Given the description of an element on the screen output the (x, y) to click on. 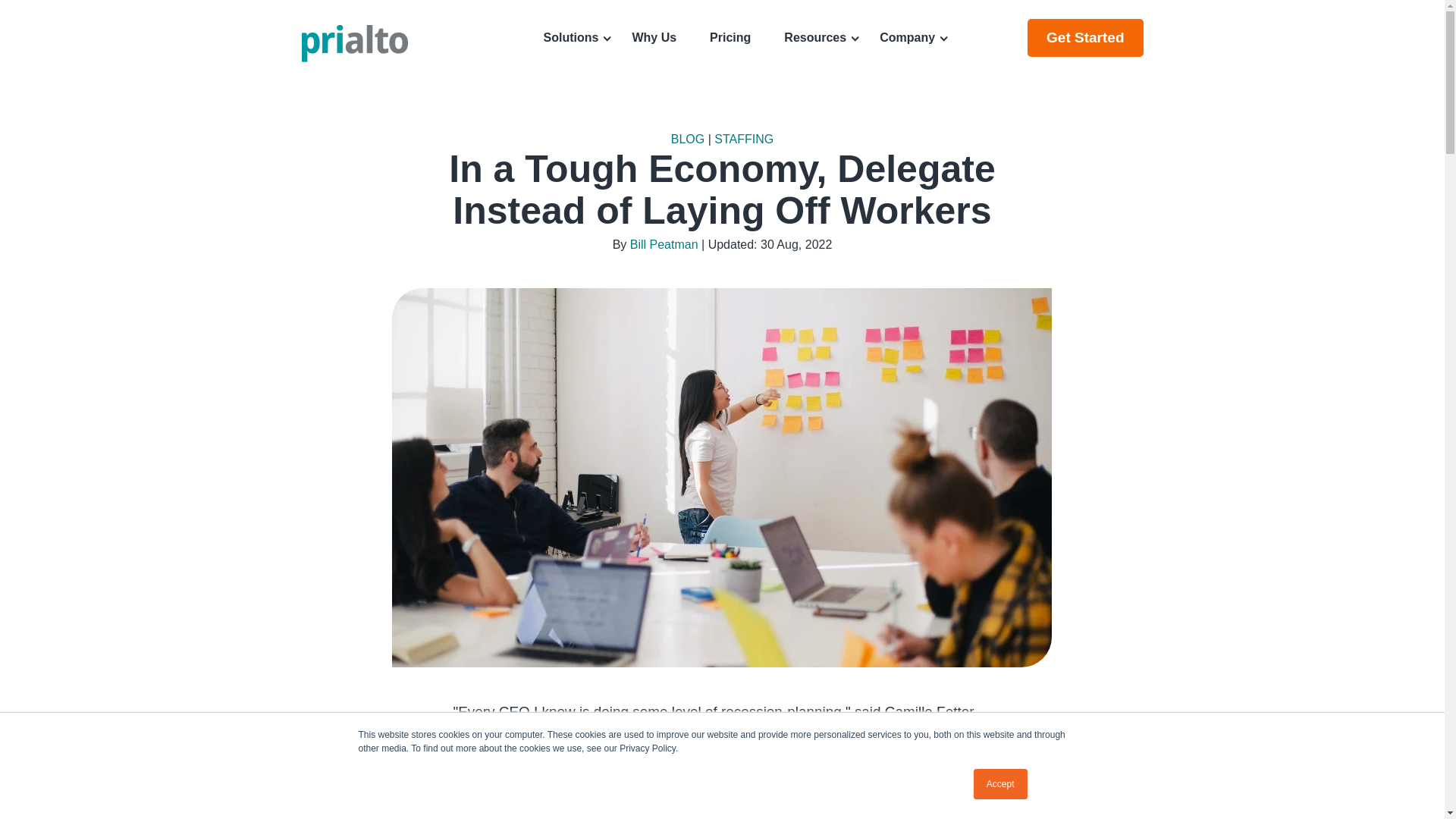
Company (907, 37)
Talentfoot (716, 732)
Solutions (571, 37)
Get Started (1084, 37)
Resources (815, 37)
Bill Peatman (664, 244)
Accept (1000, 784)
Pricing (730, 37)
BLOG (687, 138)
Why Us (653, 37)
STAFFING (743, 138)
